Given the description of an element on the screen output the (x, y) to click on. 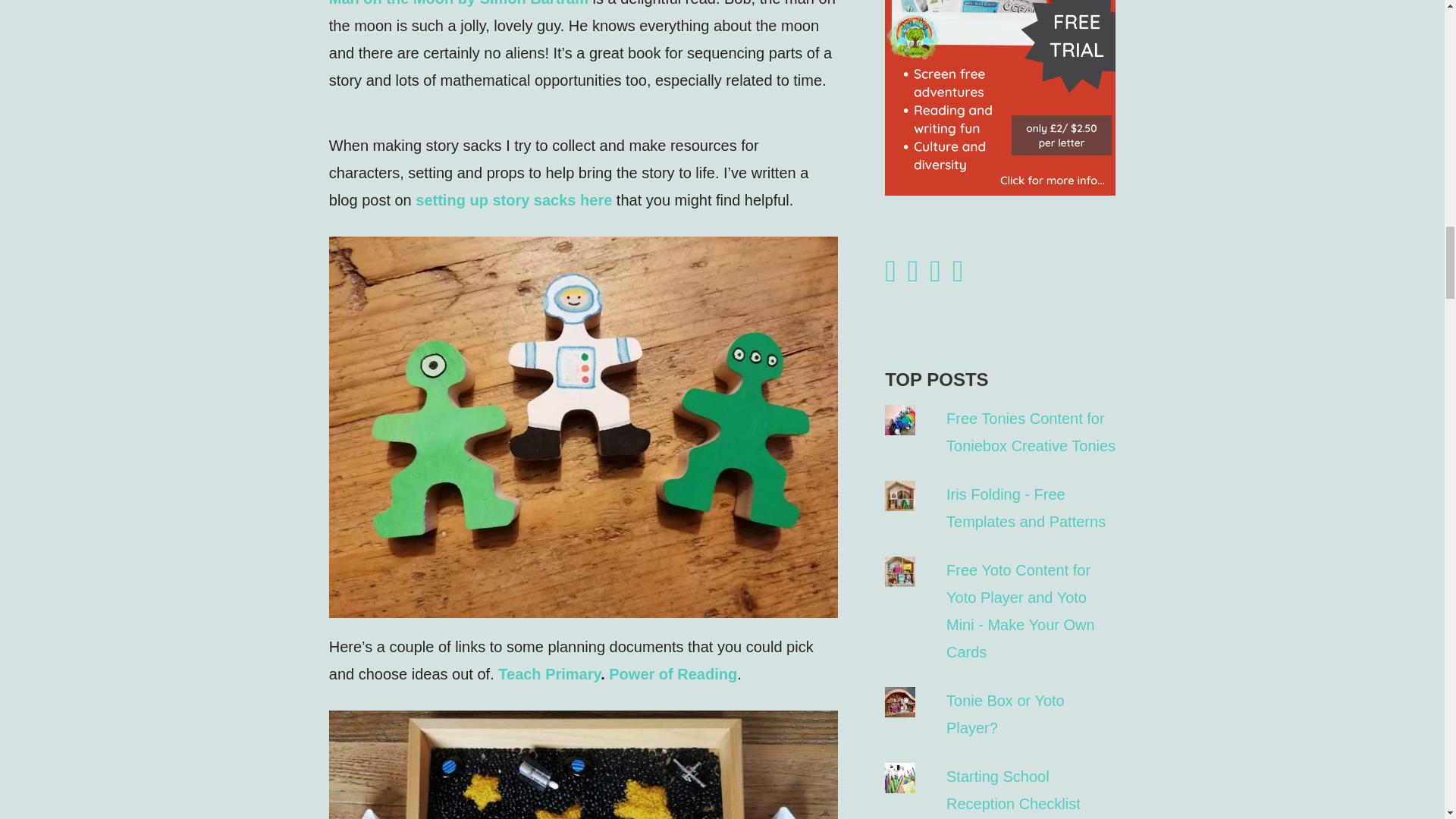
Te (506, 673)
ach Primary (557, 673)
Power of Reading (672, 673)
setting up story sacks here (512, 199)
Man on the Moon by Simon Bartram (460, 3)
